Given the description of an element on the screen output the (x, y) to click on. 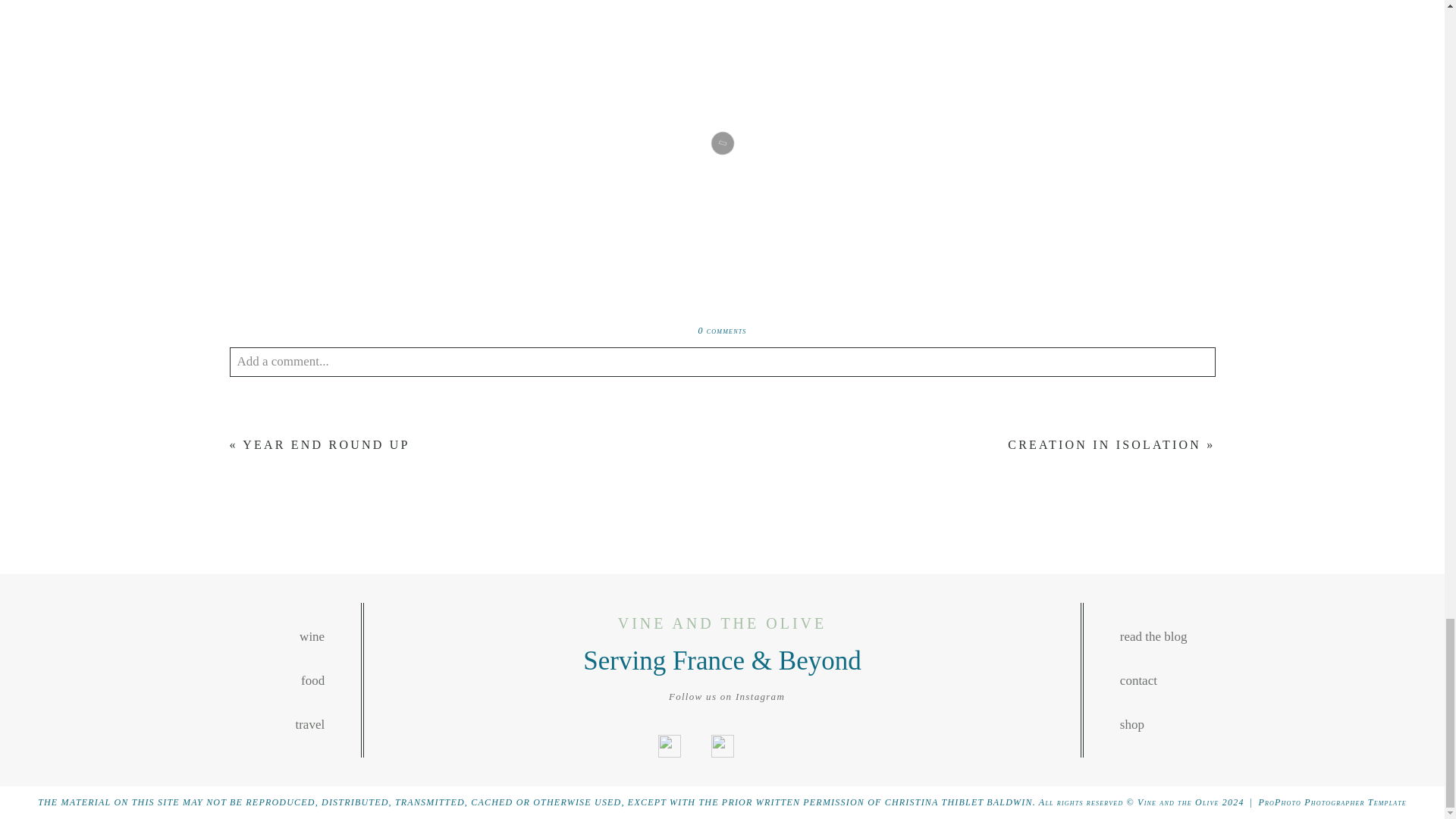
CREATION IN ISOLATION (1104, 444)
wine (180, 636)
shop (1263, 724)
travel (180, 724)
VINE AND THE OLIVE (722, 623)
ProPhoto Photographer Template (1331, 801)
ProPhoto7 (1331, 801)
food (180, 680)
read the blog (1263, 636)
YEAR END ROUND UP (326, 444)
